Given the description of an element on the screen output the (x, y) to click on. 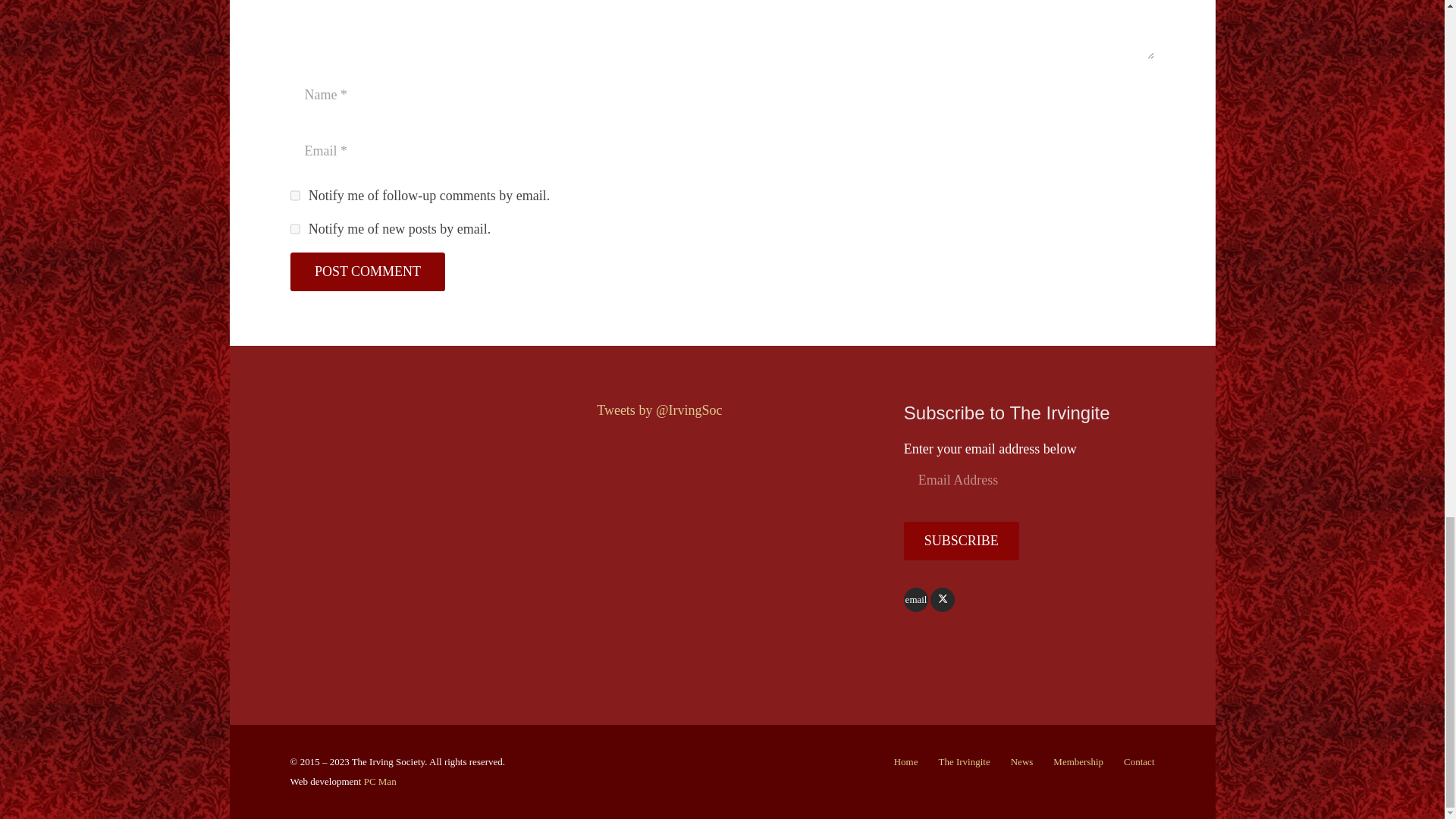
SUBSCRIBE (961, 540)
The Irvingite (964, 761)
Contact (1139, 761)
Email (916, 600)
POST COMMENT (367, 271)
Membership (1077, 761)
News (1021, 761)
PC Man (380, 781)
Twitter (942, 600)
Home (905, 761)
